Given the description of an element on the screen output the (x, y) to click on. 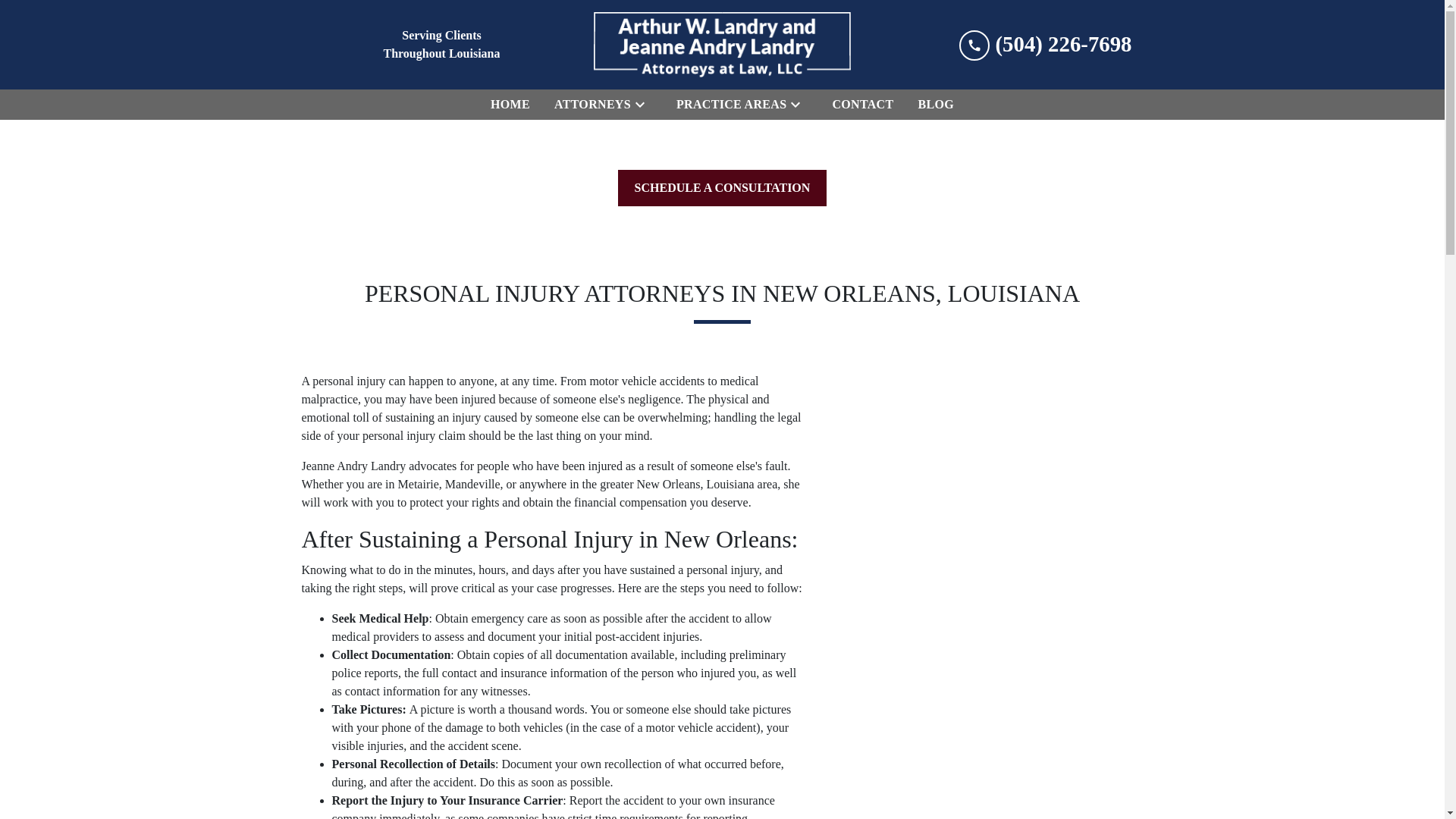
SCHEDULE A CONSULTATION (722, 187)
HOME (509, 104)
PRACTICE AREAS (727, 104)
BLOG (935, 104)
ATTORNEYS (589, 104)
CONTACT (862, 104)
